Given the description of an element on the screen output the (x, y) to click on. 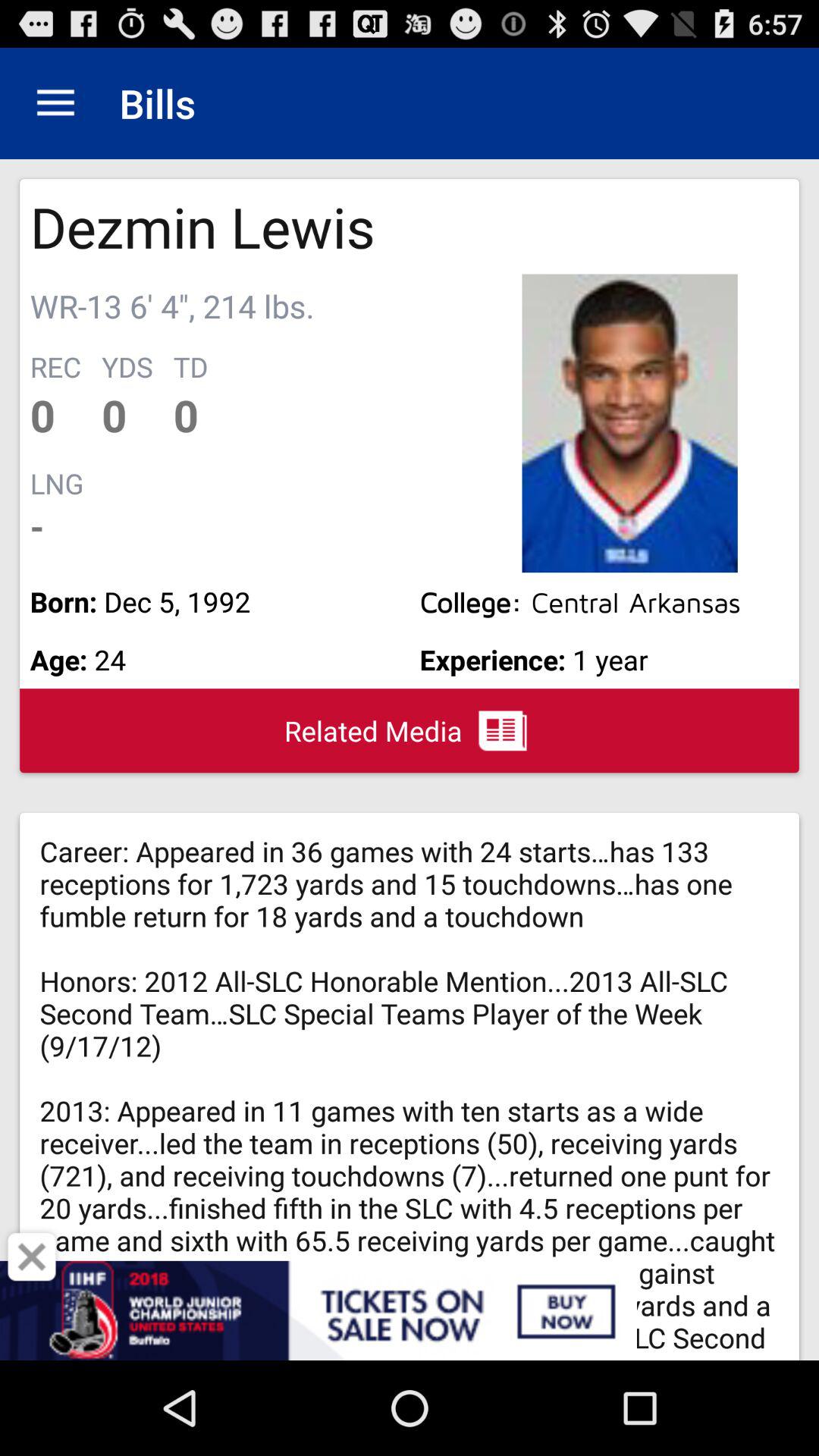
close button (31, 1256)
